Given the description of an element on the screen output the (x, y) to click on. 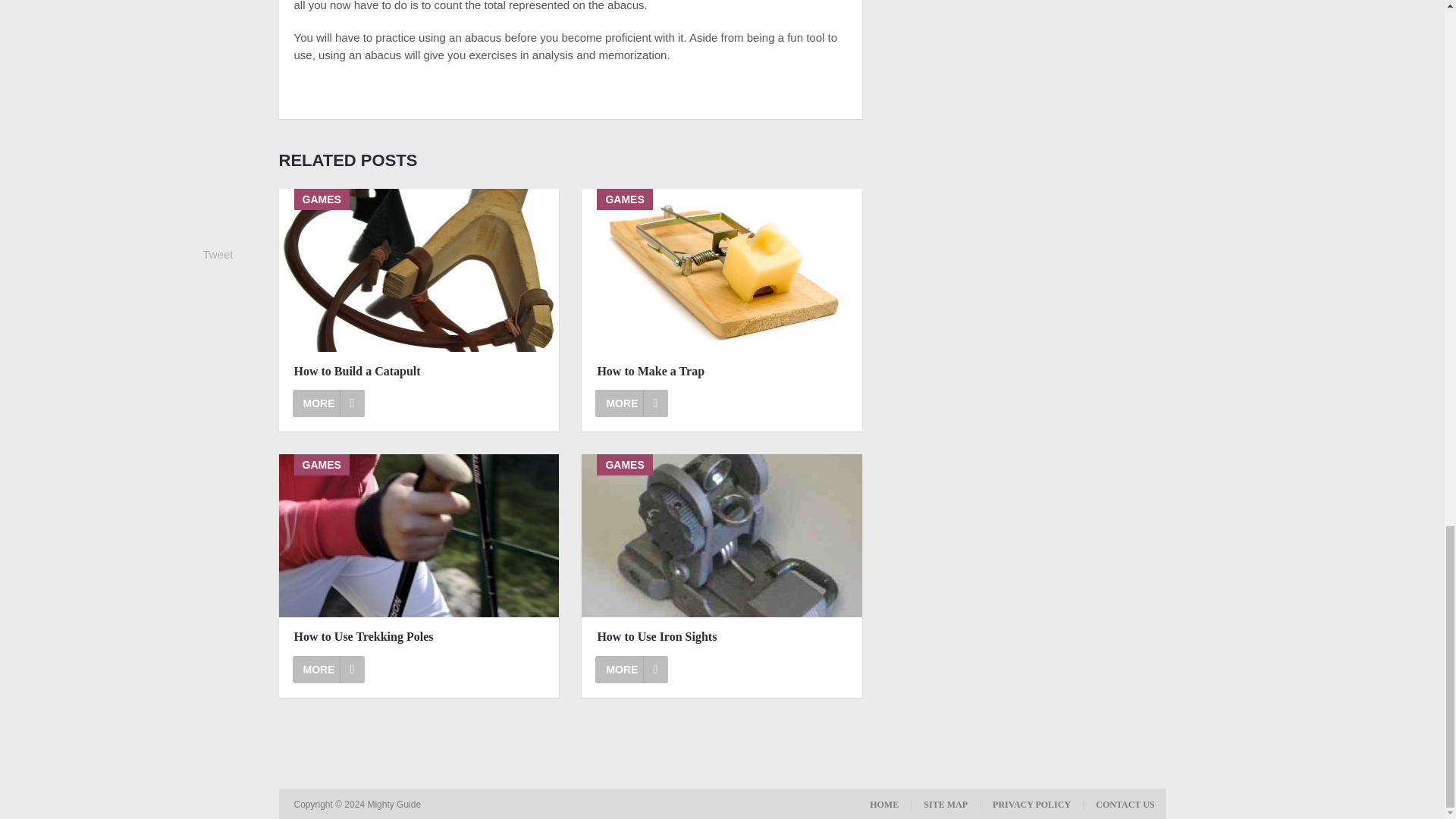
How to Build a Catapult (419, 371)
How to Build a Catapult (419, 371)
How to Use Trekking Poles (419, 636)
How to Use Iron Sights (721, 636)
How to Use Iron Sights (721, 636)
MORE (328, 669)
How to Build a Catapult (328, 402)
GAMES (720, 270)
How to Make a Trap (721, 371)
How to Use Trekking Poles (328, 669)
How to Make a Trap (631, 402)
How to Make a Trap (721, 371)
MORE (631, 402)
How to Use Iron Sights (720, 535)
GAMES (419, 535)
